Given the description of an element on the screen output the (x, y) to click on. 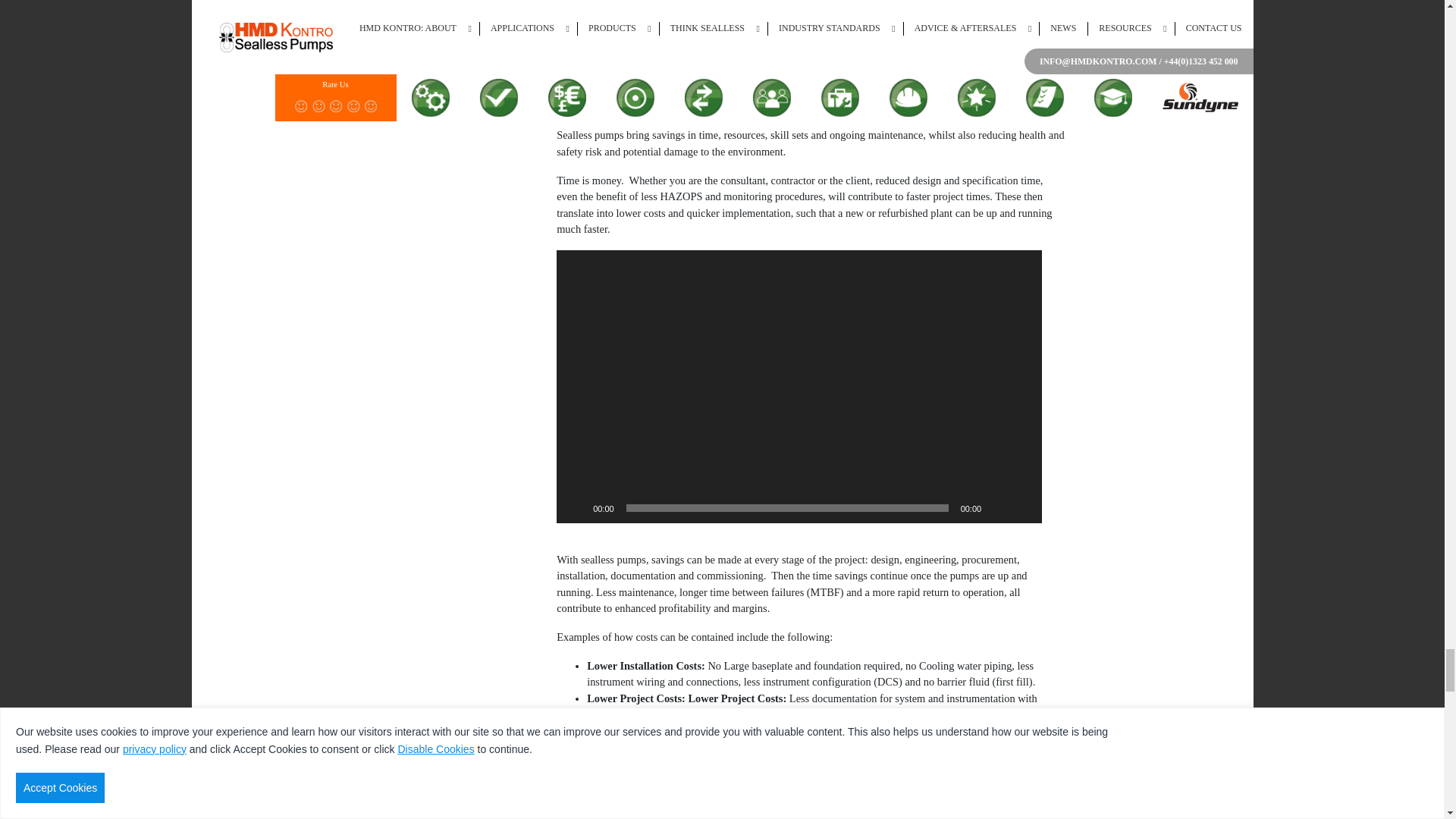
Fullscreen (1021, 507)
Mute (998, 507)
Play (576, 507)
